Given the description of an element on the screen output the (x, y) to click on. 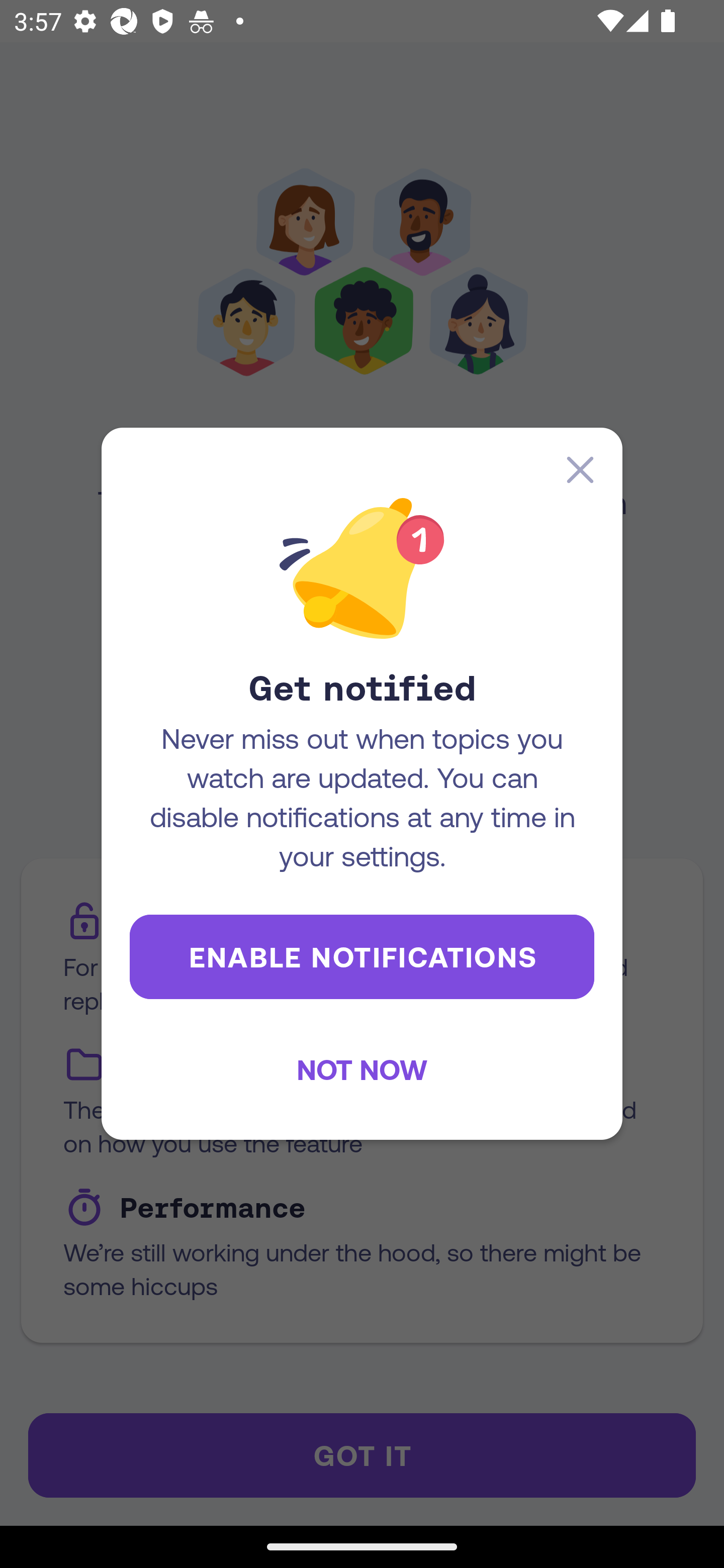
ENABLE NOTIFICATIONS (361, 956)
NOT NOW (361, 1069)
